Given the description of an element on the screen output the (x, y) to click on. 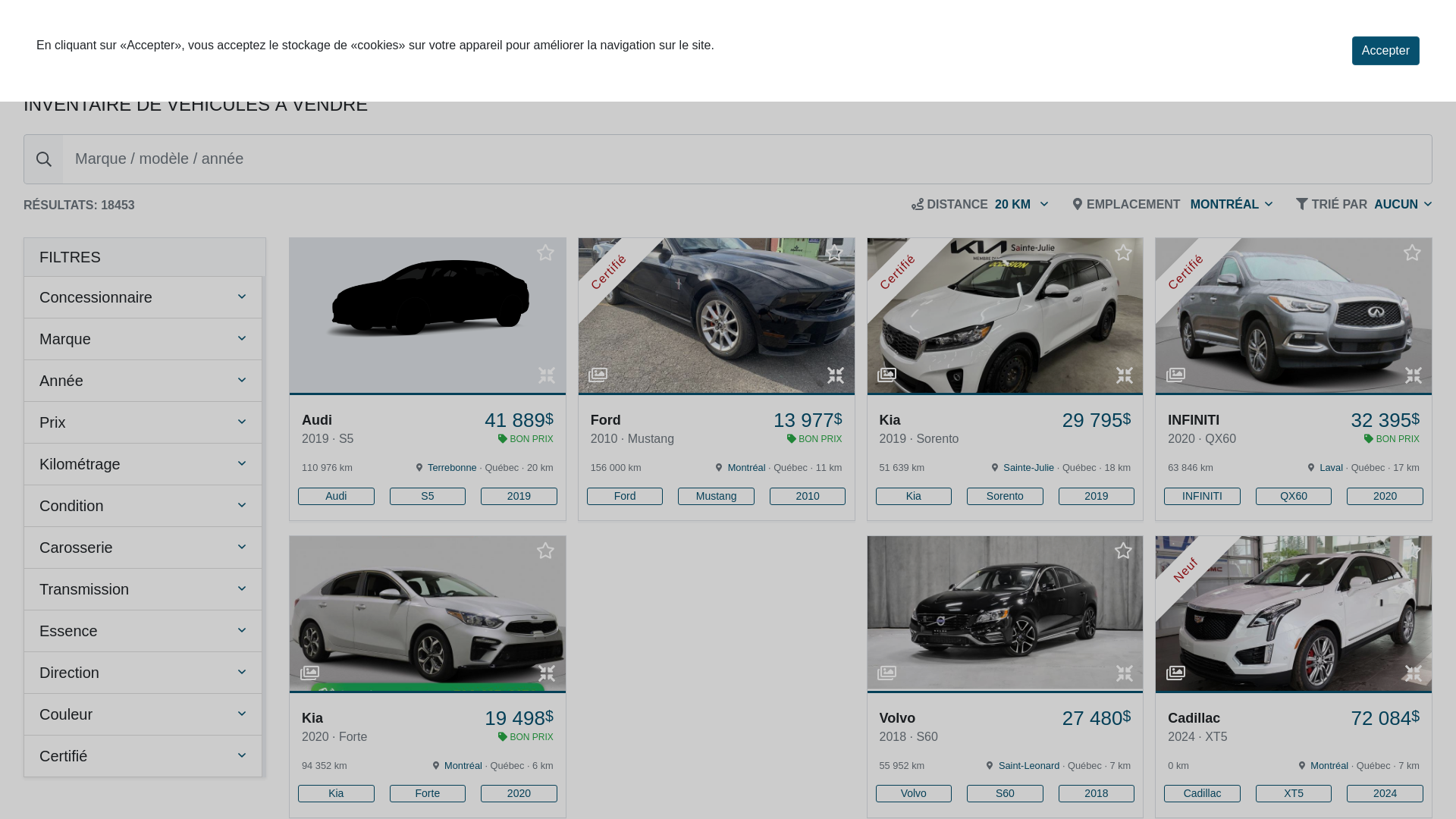
Laval Element type: text (1331, 467)
Terrebonne Element type: text (451, 467)
S5 Element type: text (427, 496)
2024 Element type: text (1384, 793)
Mustang Element type: text (715, 496)
2020 Element type: text (1384, 496)
Sorento Element type: text (1004, 496)
2019 Element type: text (1096, 496)
Kia Element type: text (913, 496)
INFINITI Element type: text (1202, 496)
2019 Element type: text (518, 496)
Accepter Element type: text (1385, 50)
2020 Element type: text (518, 793)
AutoExpert Element type: hover (100, 42)
Audi Element type: text (336, 496)
XT5 Element type: text (1293, 793)
QX60 Element type: text (1293, 496)
2018 Element type: text (1096, 793)
S60 Element type: text (1004, 793)
Volvo Element type: text (913, 793)
Ford Element type: text (624, 496)
Forte Element type: text (427, 793)
Cadillac Element type: text (1202, 793)
Sainte-Julie Element type: text (1028, 467)
2010 Element type: text (807, 496)
Saint-Leonard Element type: text (1028, 765)
Kia Element type: text (336, 793)
